Given the description of an element on the screen output the (x, y) to click on. 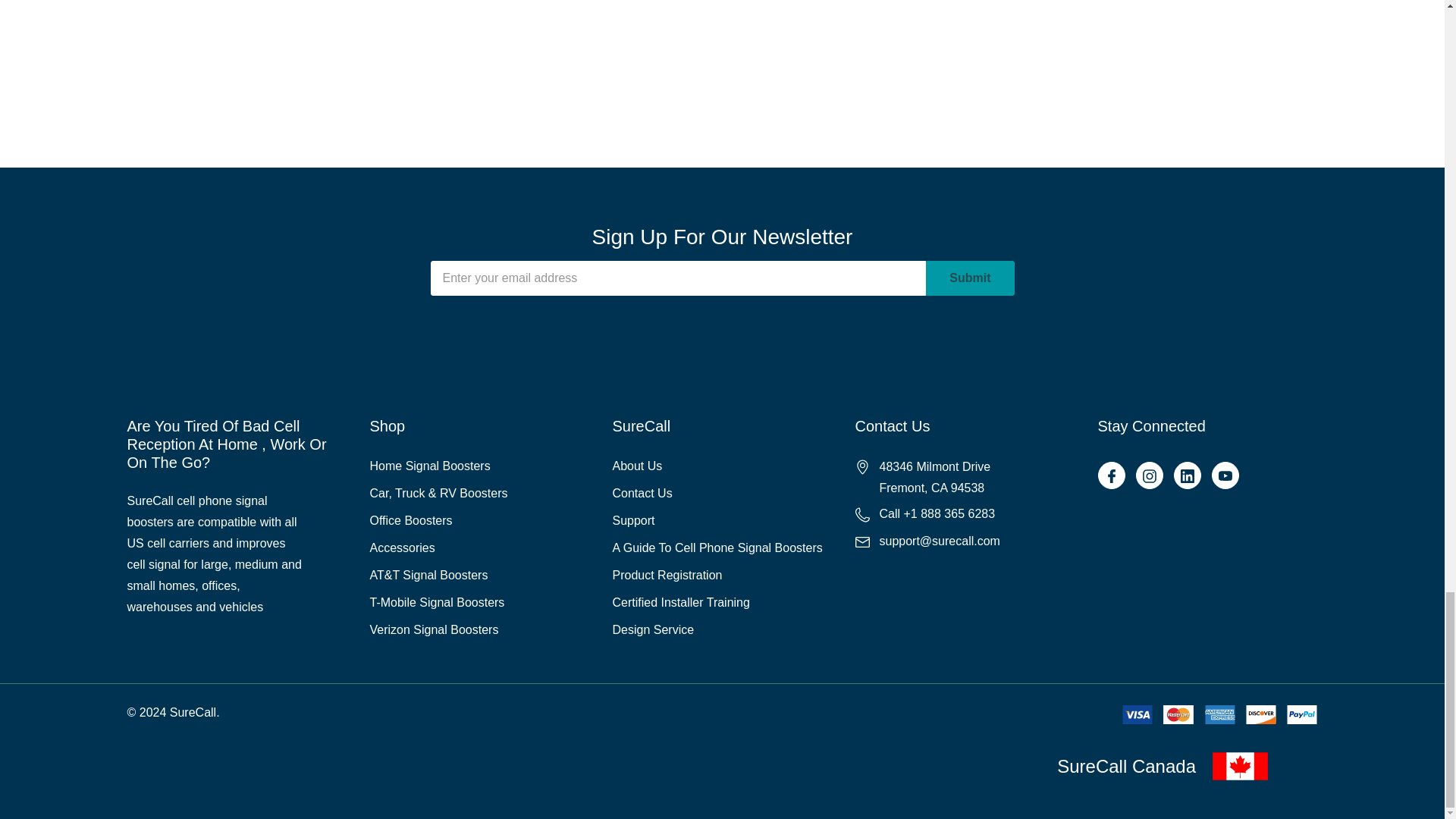
Submit (969, 278)
Form 0 (721, 45)
Open Linkedin in a new tab (1186, 475)
Open Youtube in a new tab (1224, 475)
Open Facebook in a new tab (1110, 475)
Open Instagram in a new tab (1148, 475)
